Given the description of an element on the screen output the (x, y) to click on. 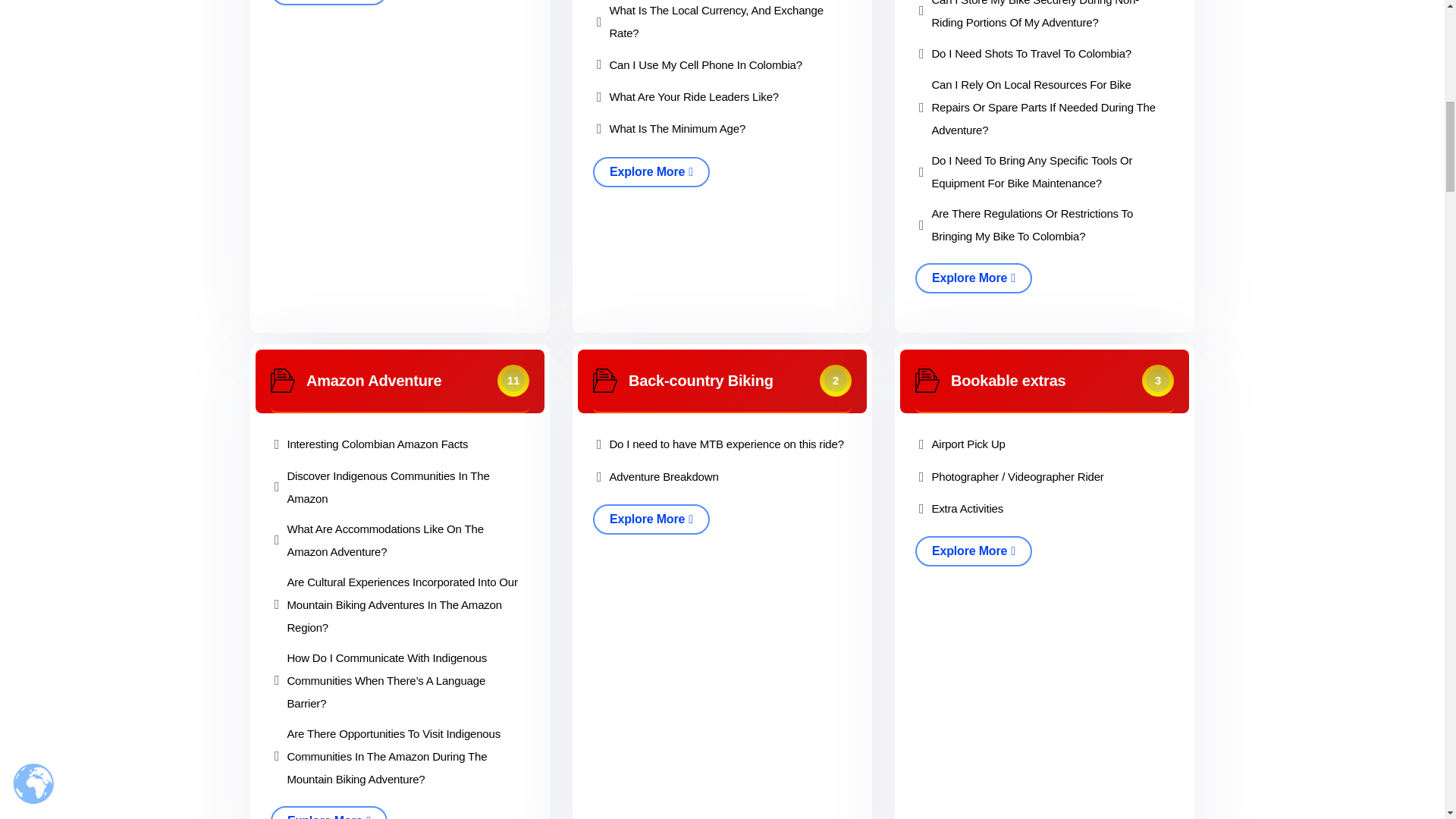
Explore More (328, 2)
What Is The Local Currency, And Exchange Rate? (727, 22)
Explore More (651, 172)
What Is The Minimum Age? (676, 128)
Adventure Preparation (927, 380)
Adventure Preparation (282, 380)
Adventure Preparation (604, 380)
Can I Use My Cell Phone In Colombia? (705, 65)
What Are Your Ride Leaders Like? (693, 96)
